Given the description of an element on the screen output the (x, y) to click on. 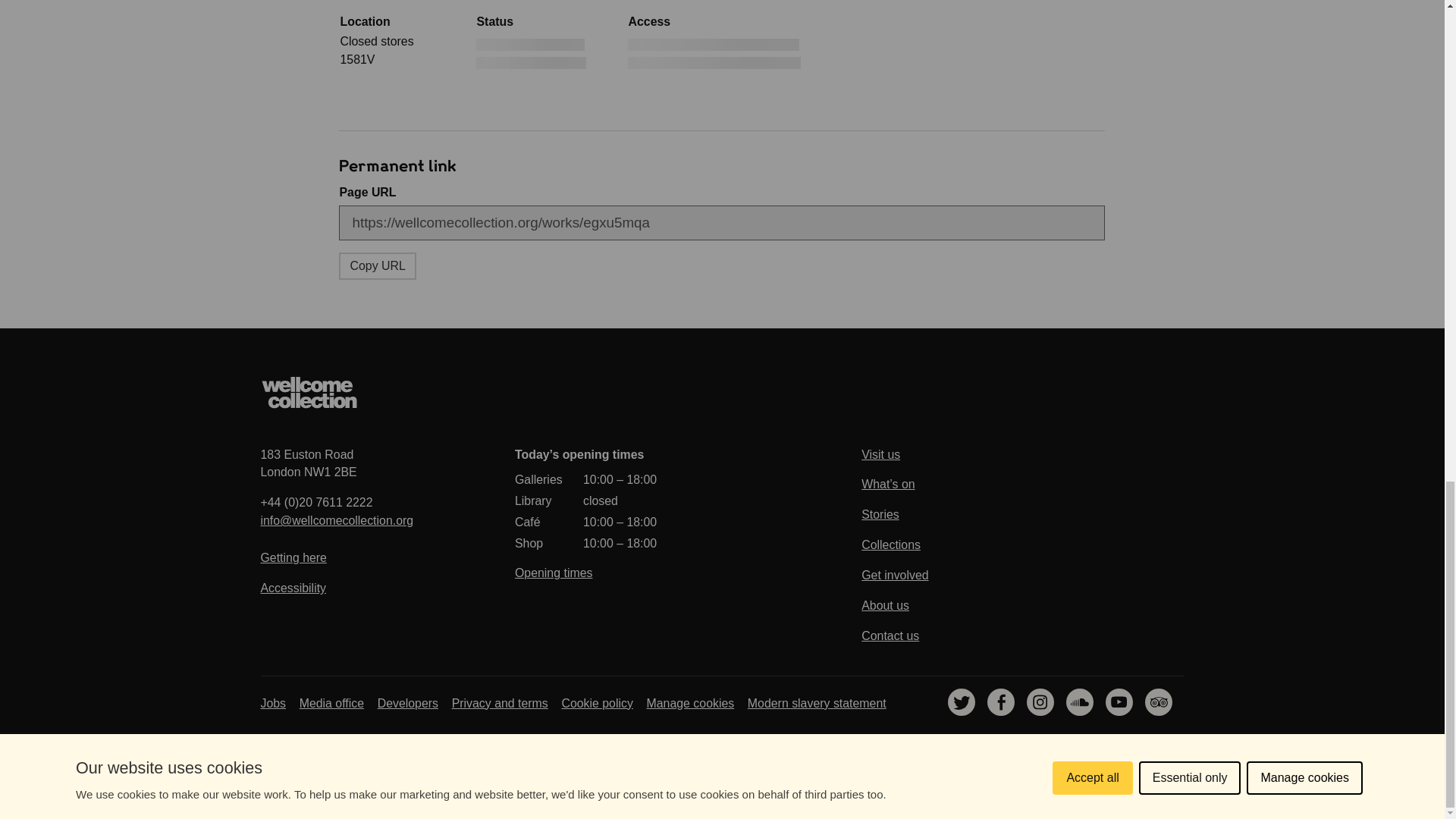
Getting here (293, 557)
Accessibility (308, 463)
Visit us (293, 587)
Wellcome Collection (894, 457)
Copy URL (309, 392)
Opening times (376, 266)
